Given the description of an element on the screen output the (x, y) to click on. 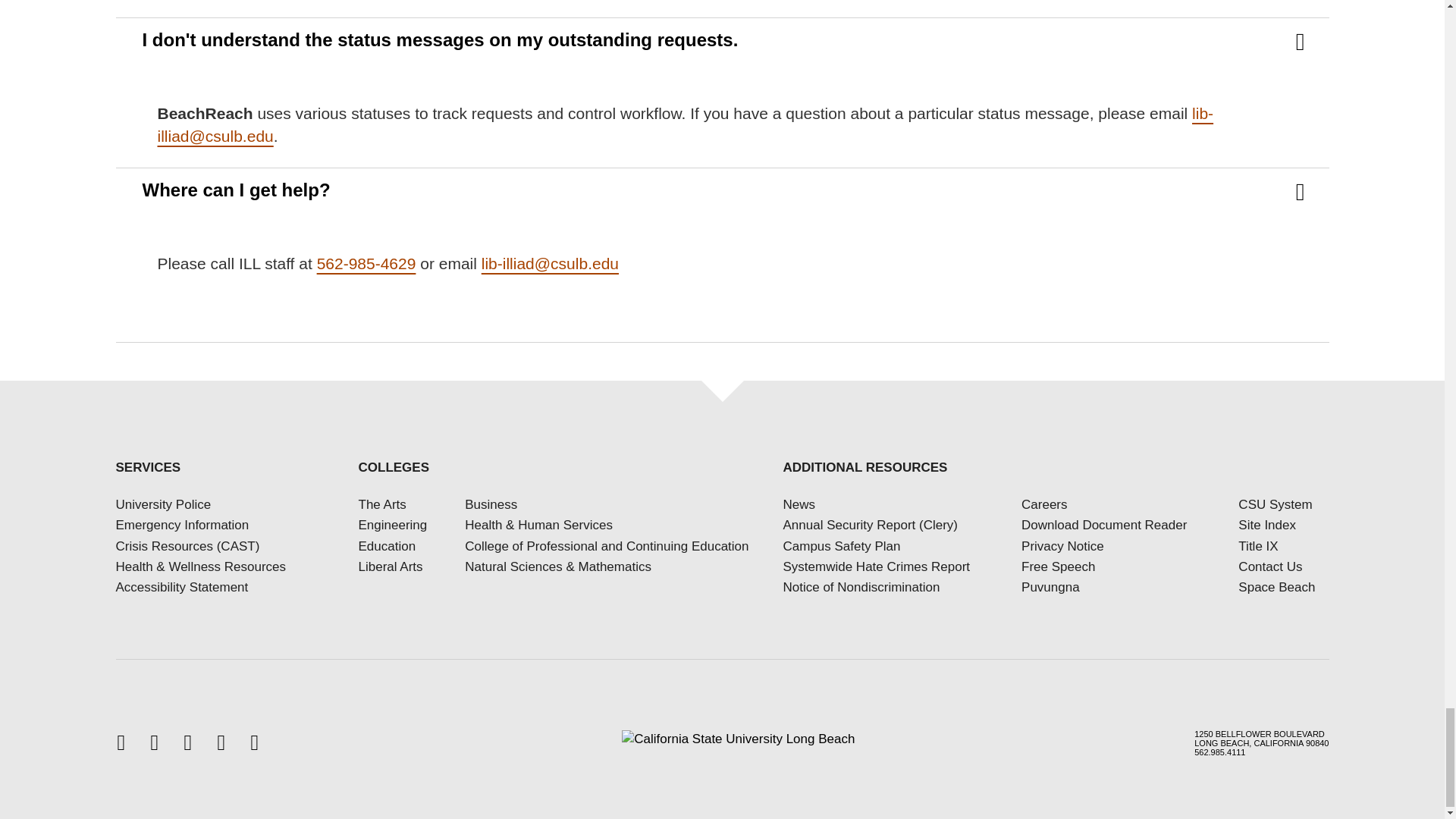
Title IX (1258, 545)
